Given the description of an element on the screen output the (x, y) to click on. 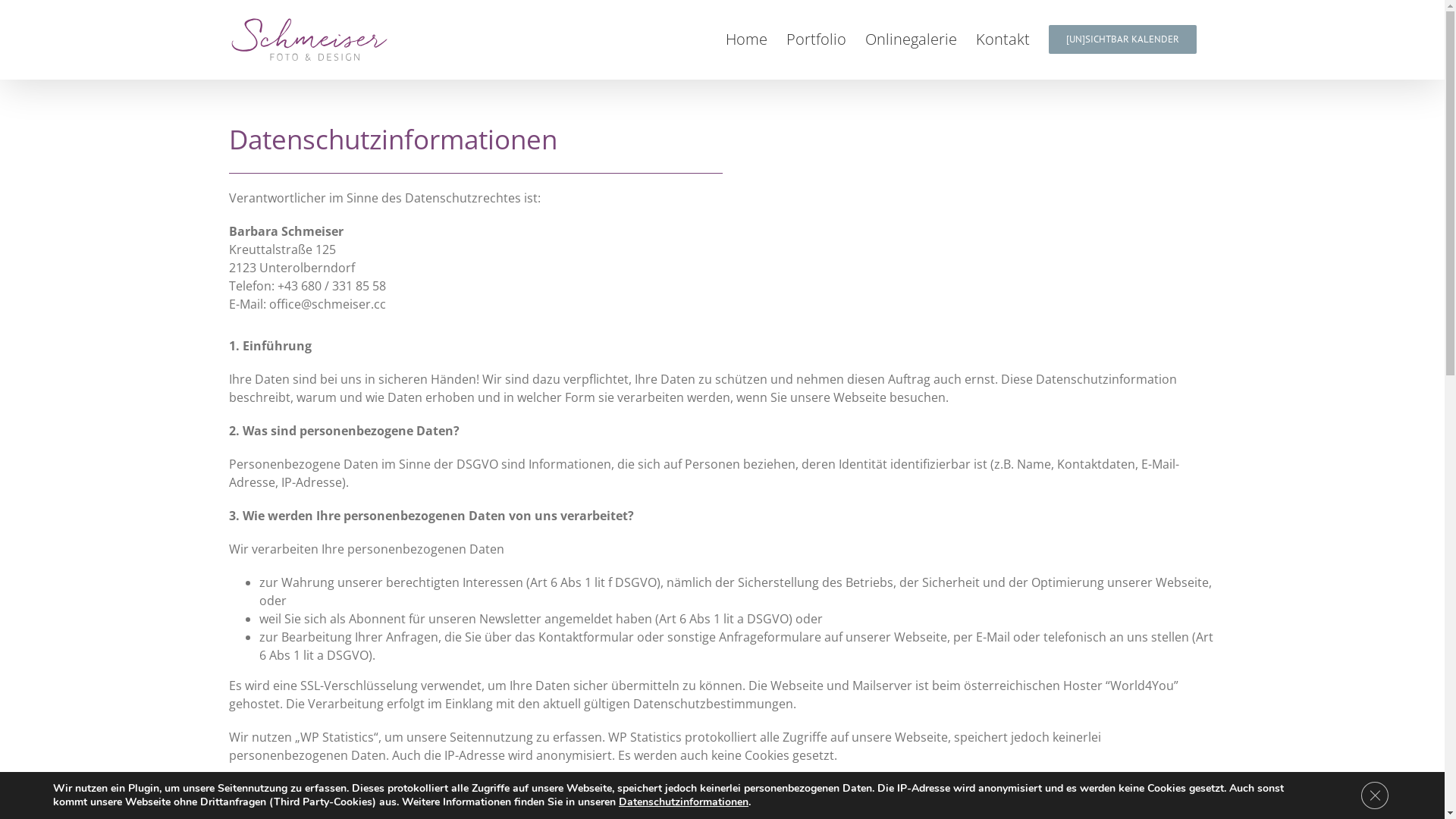
Onlinegalerie Element type: text (910, 37)
Kontakt Element type: text (1002, 37)
Portfolio Element type: text (815, 37)
Home Element type: text (745, 37)
Datenschutzinformationen Element type: text (683, 801)
[UN]SICHTBAR KALENDER Element type: text (1121, 37)
